Given the description of an element on the screen output the (x, y) to click on. 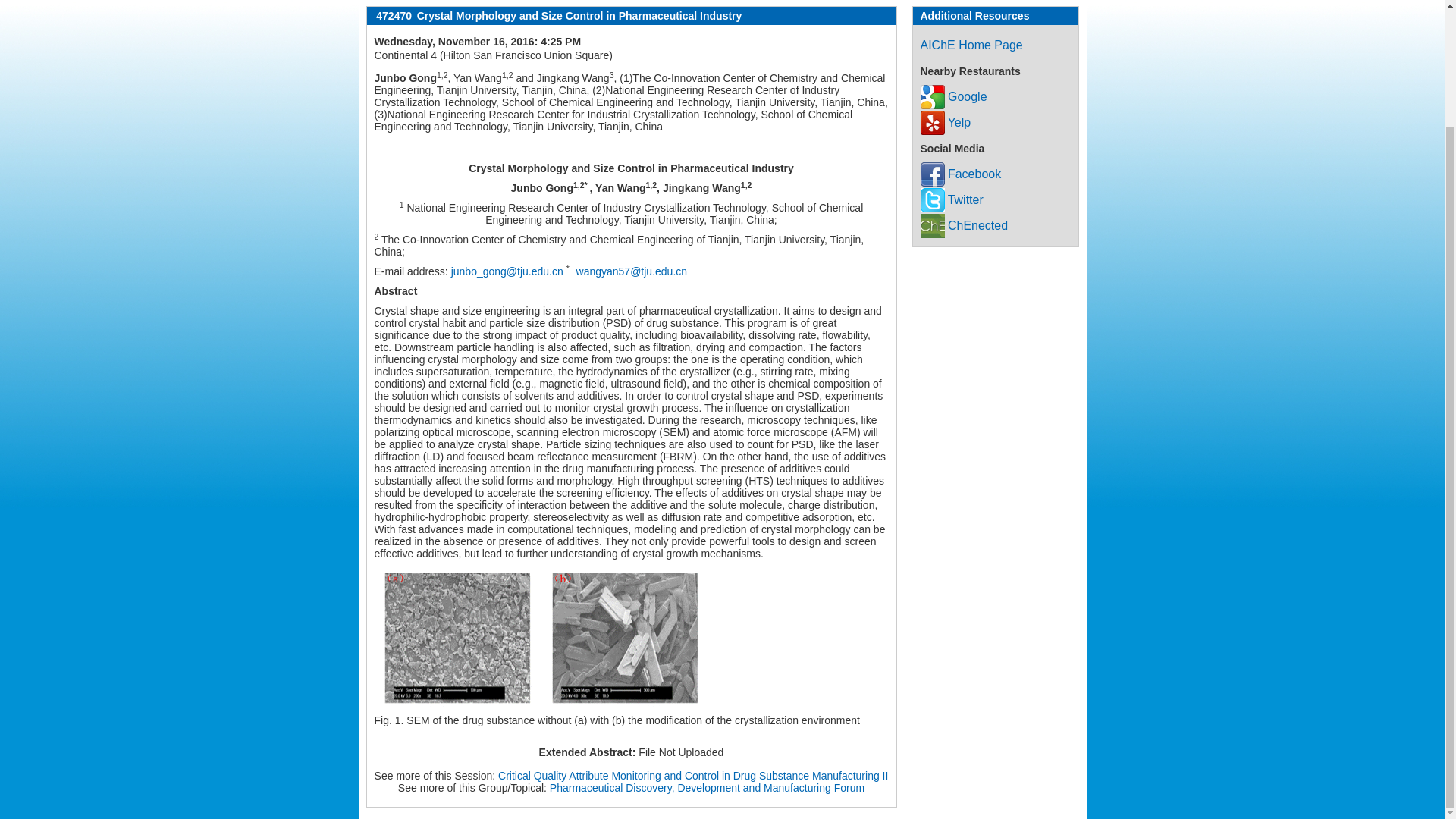
Google (953, 96)
Facebook (960, 173)
Twitter (952, 199)
ChEnected (964, 225)
Yelp (945, 122)
AIChE Home Page (971, 44)
